Given the description of an element on the screen output the (x, y) to click on. 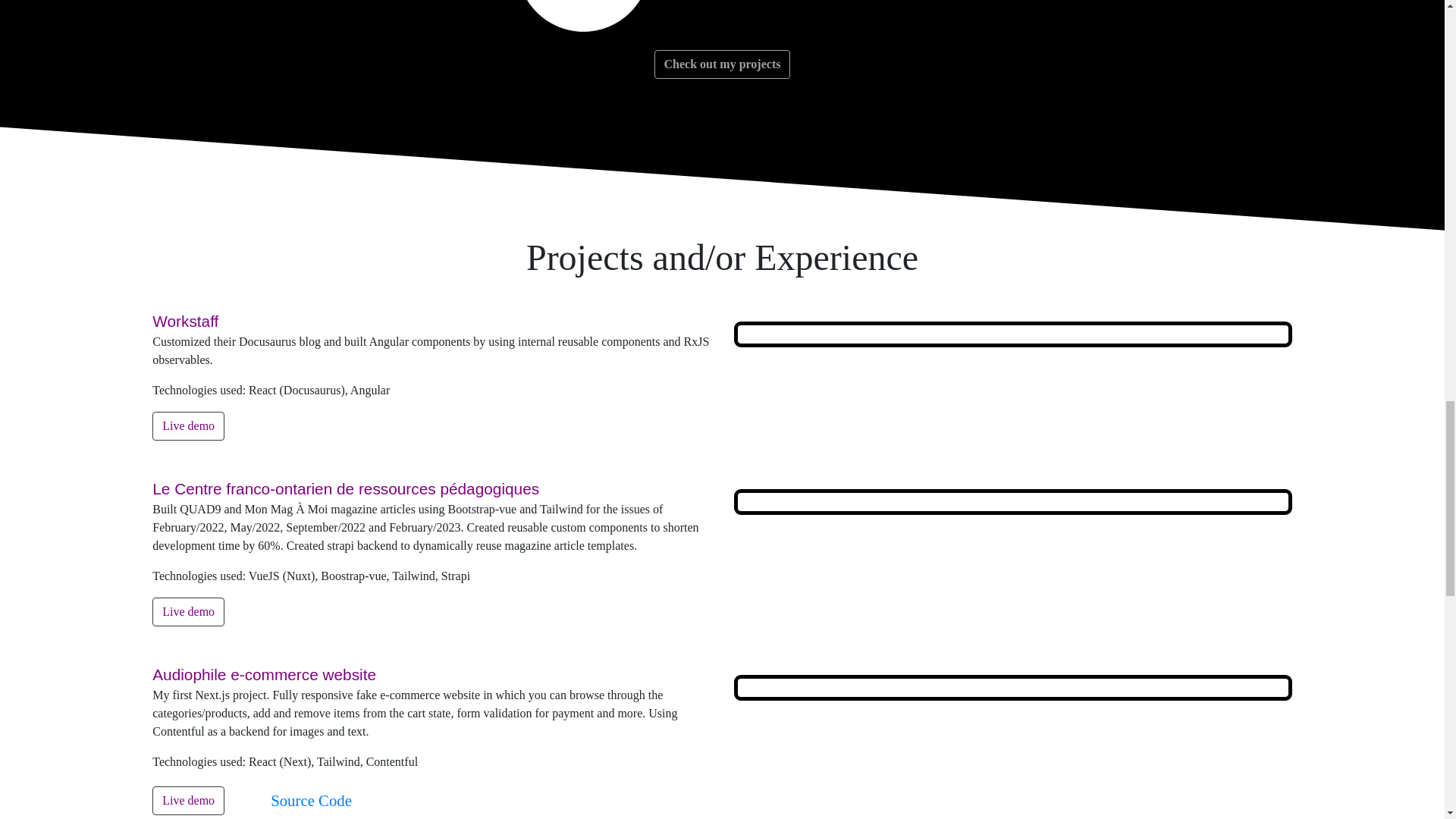
Live demo (188, 611)
Source Code (310, 799)
Live demo (188, 800)
Check out my projects (721, 63)
Live demo (188, 425)
